Given the description of an element on the screen output the (x, y) to click on. 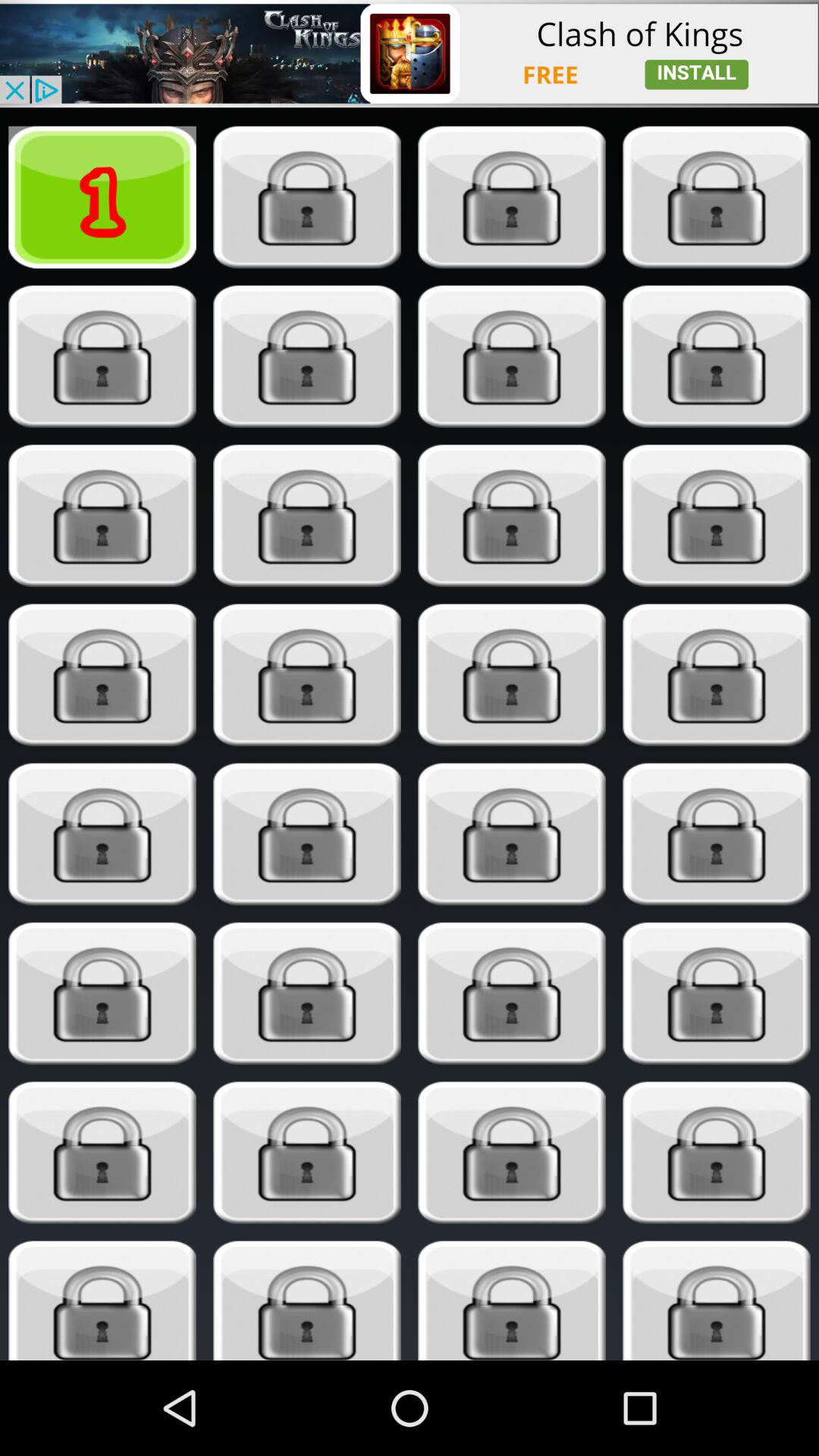
click to select (102, 1300)
